Given the description of an element on the screen output the (x, y) to click on. 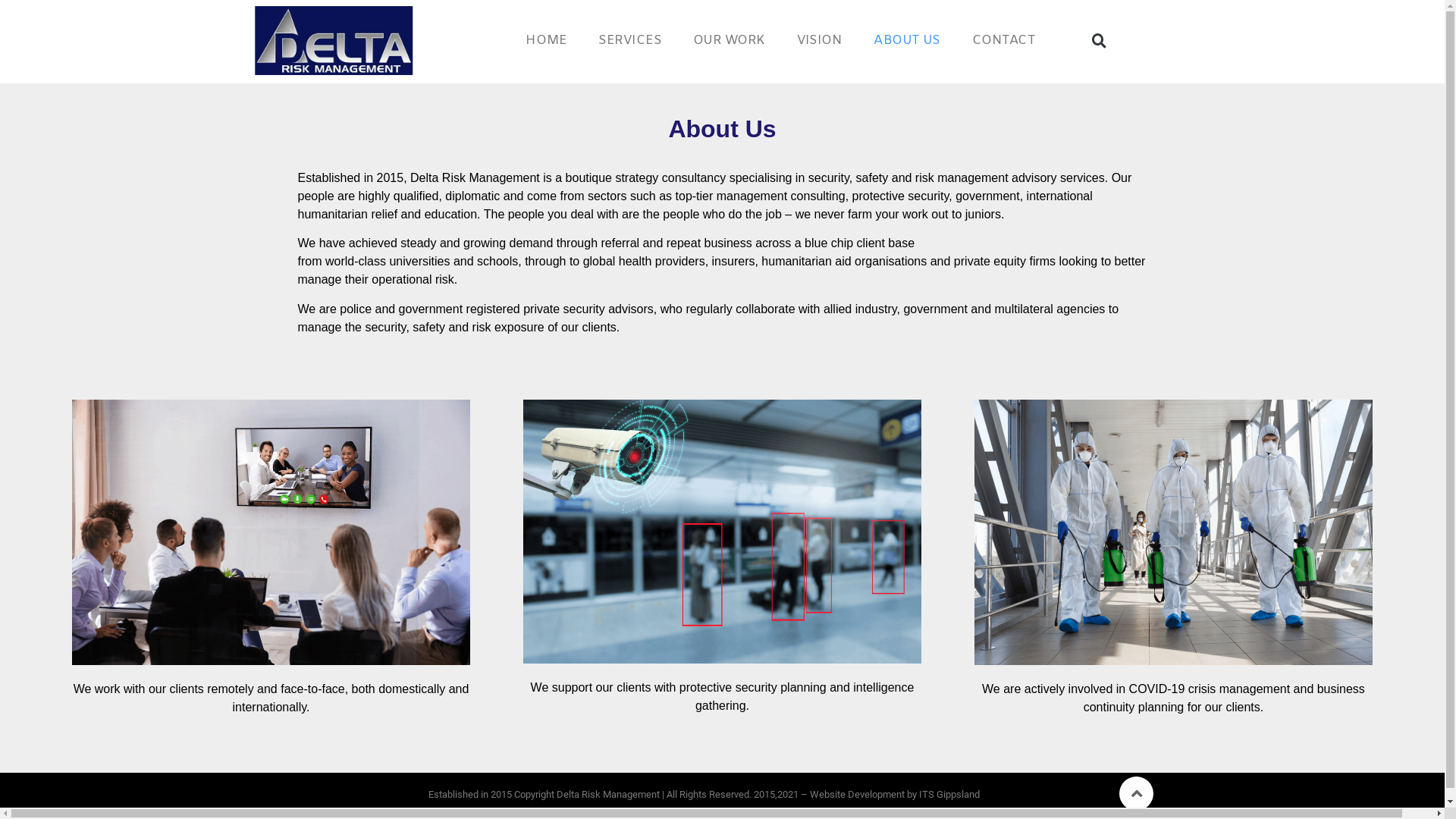
SERVICES Element type: text (628, 38)
Website Development Element type: text (856, 794)
CONTACT Element type: text (1001, 38)
ABOUT US Element type: text (904, 38)
HOME Element type: text (545, 38)
OUR WORK Element type: text (726, 38)
VISION Element type: text (817, 38)
